Given the description of an element on the screen output the (x, y) to click on. 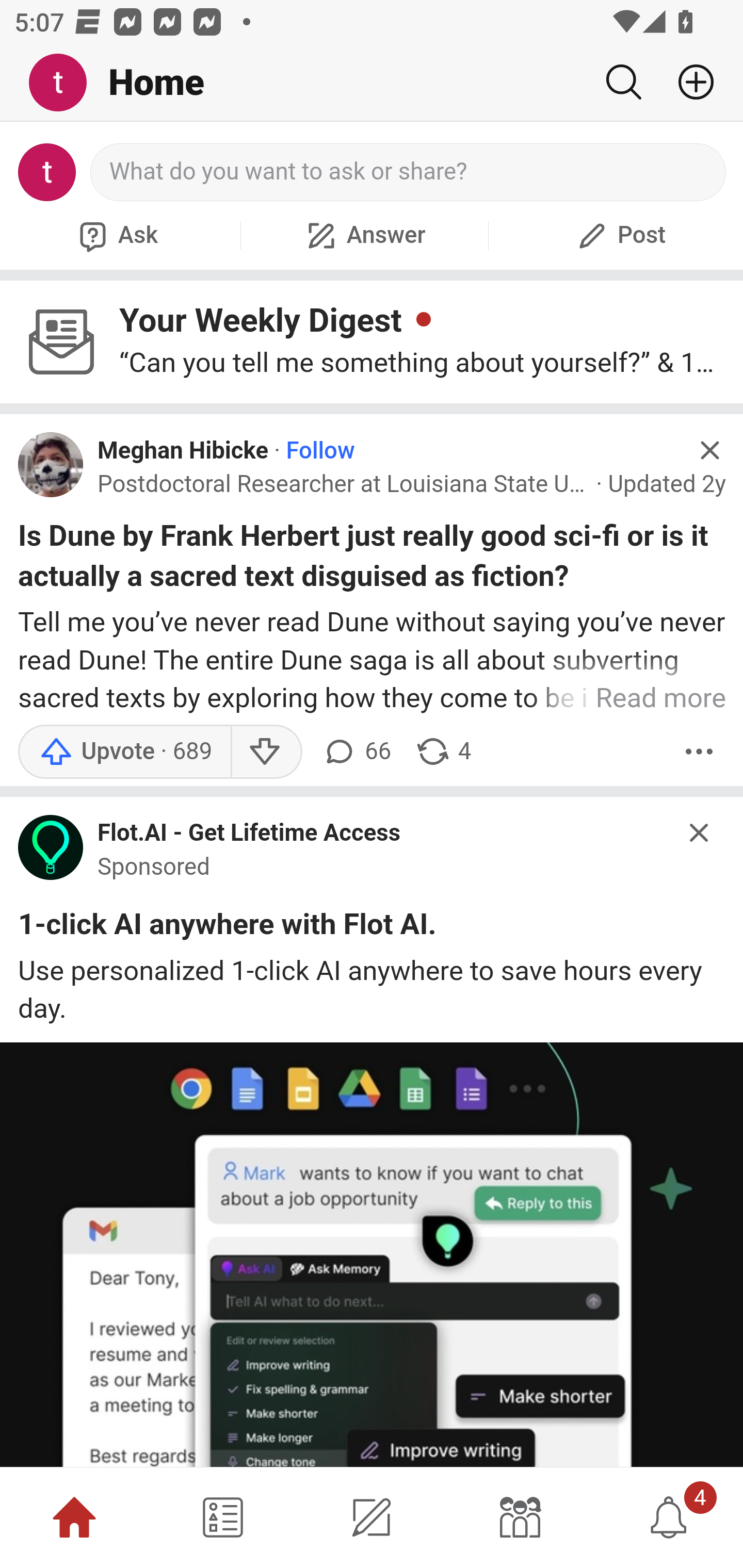
Me Home Search Add (371, 82)
Me (64, 83)
Search (623, 82)
Add (688, 82)
4 (668, 1517)
